Given the description of an element on the screen output the (x, y) to click on. 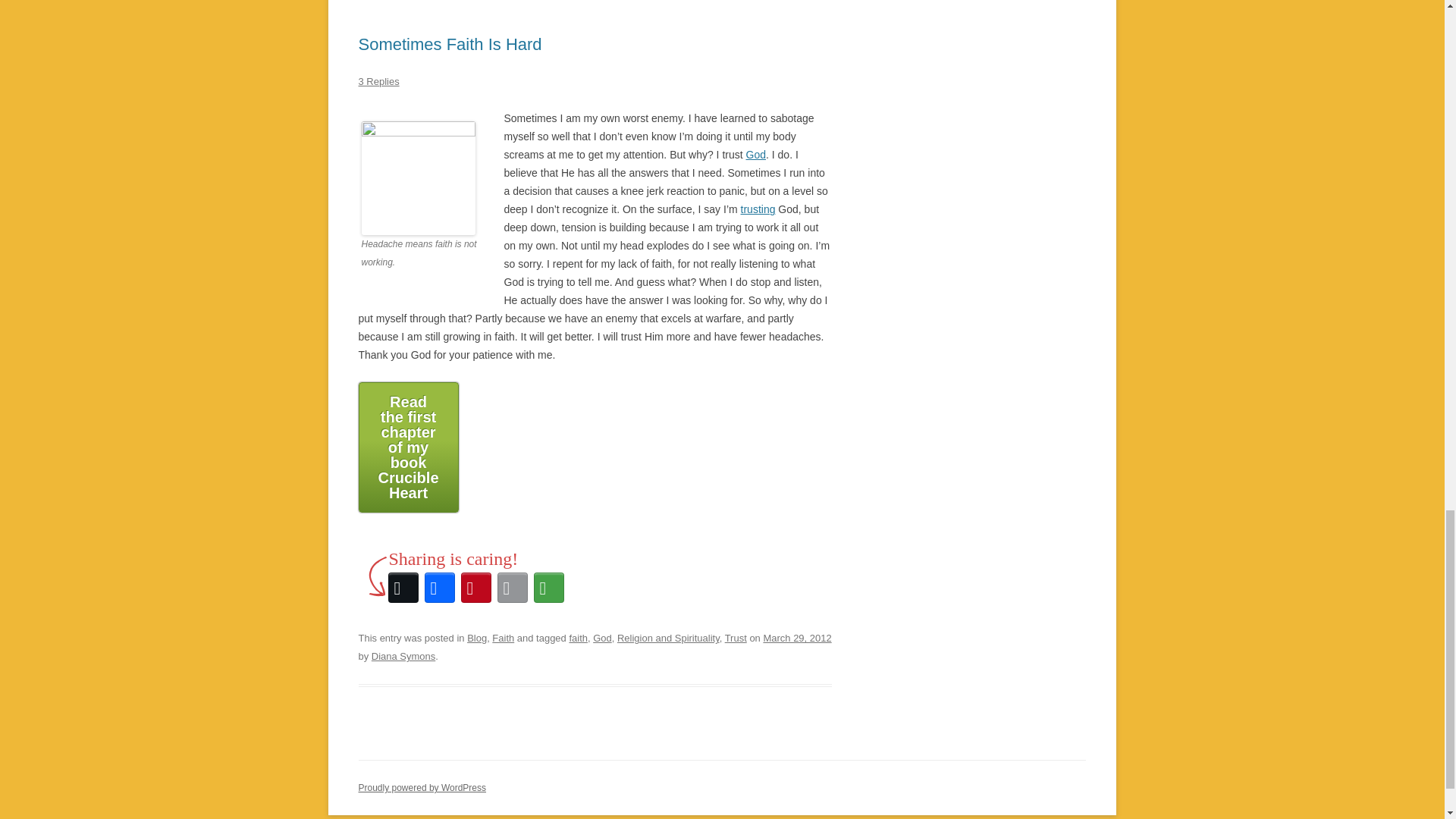
Sometimes Faith Is Hard (449, 44)
headache (417, 178)
